Given the description of an element on the screen output the (x, y) to click on. 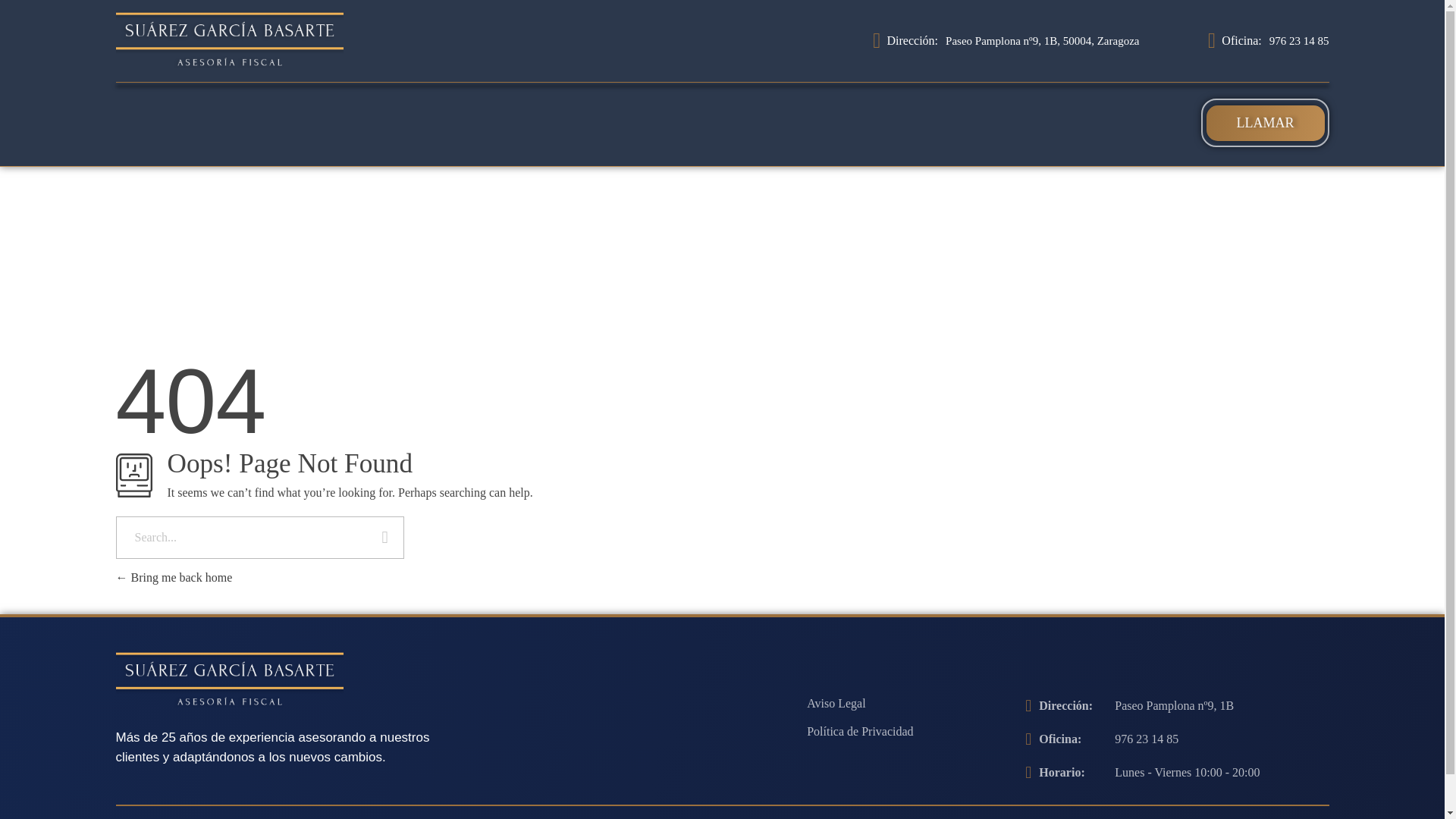
Aviso Legal (835, 703)
Bring me back home (173, 576)
LLAMAR (1264, 122)
